Given the description of an element on the screen output the (x, y) to click on. 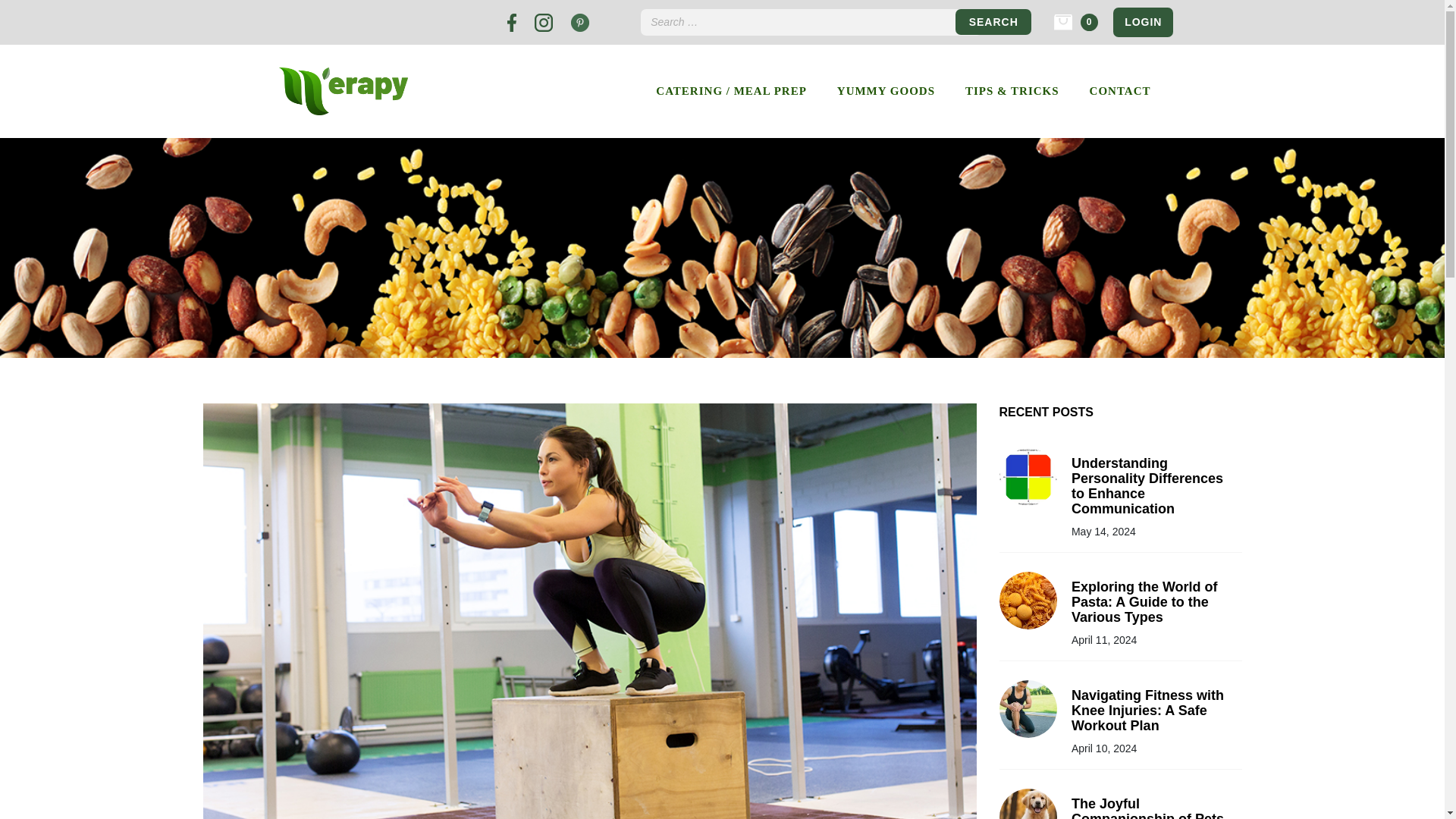
Login (1143, 21)
CONTACT (1120, 91)
Navigating Fitness with Knee Injuries: A Safe Workout Plan (1155, 720)
Exploring the World of Pasta: A Guide to the Various Types (1155, 612)
View your shopping cart (1062, 21)
LOGIN (1143, 21)
ninsta (543, 22)
0 (1062, 21)
pinterest (579, 22)
